Given the description of an element on the screen output the (x, y) to click on. 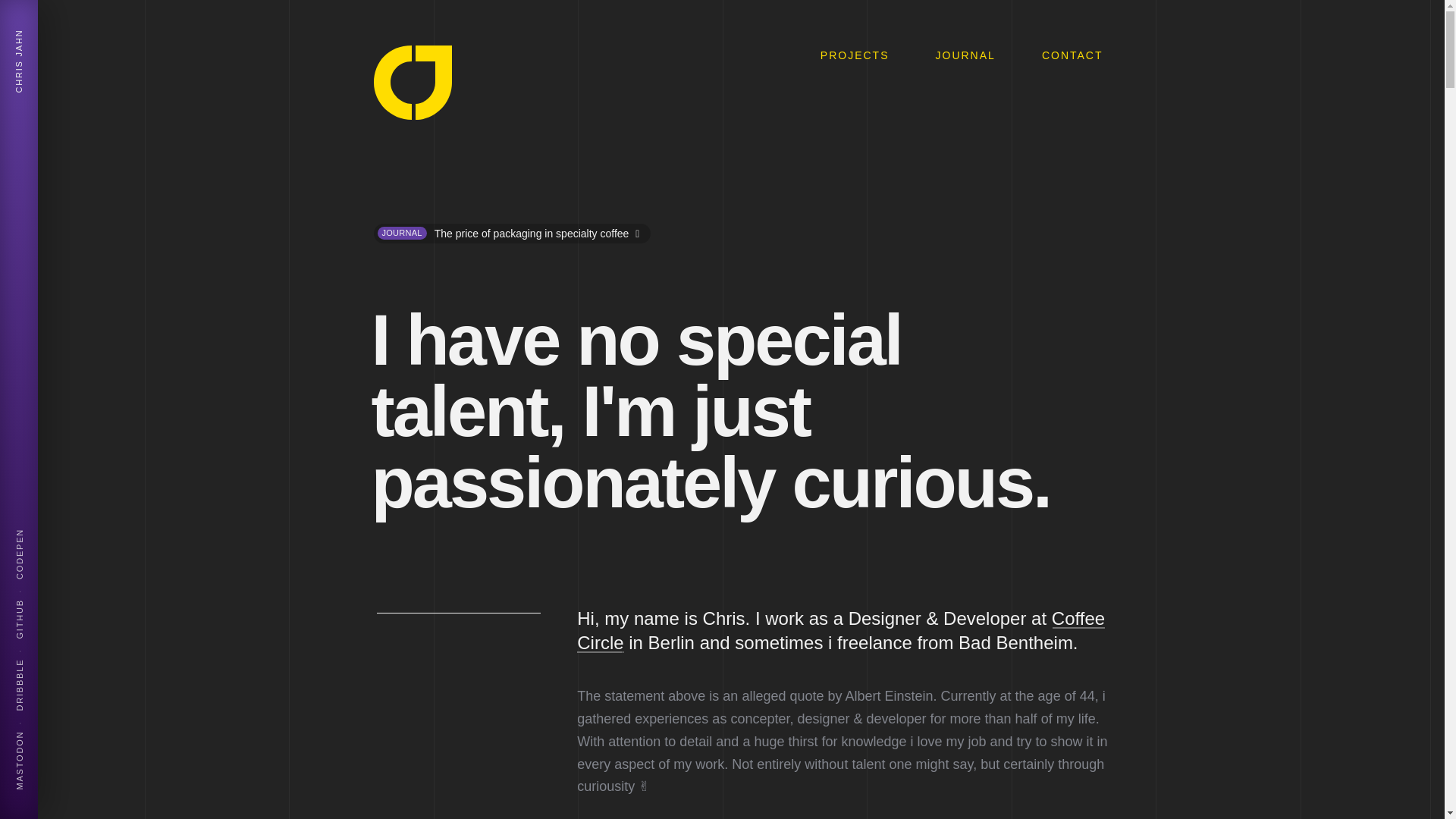
PROJECTS (854, 55)
Coffee Circle (840, 630)
DRIBBBLE (38, 657)
JOURNAL (965, 55)
The price of packaging in specialty coffee (538, 232)
MASTODON (42, 729)
CODEPEN (29, 543)
JOURNAL (401, 232)
CONTACT (1072, 55)
GITHUB (32, 598)
